Given the description of an element on the screen output the (x, y) to click on. 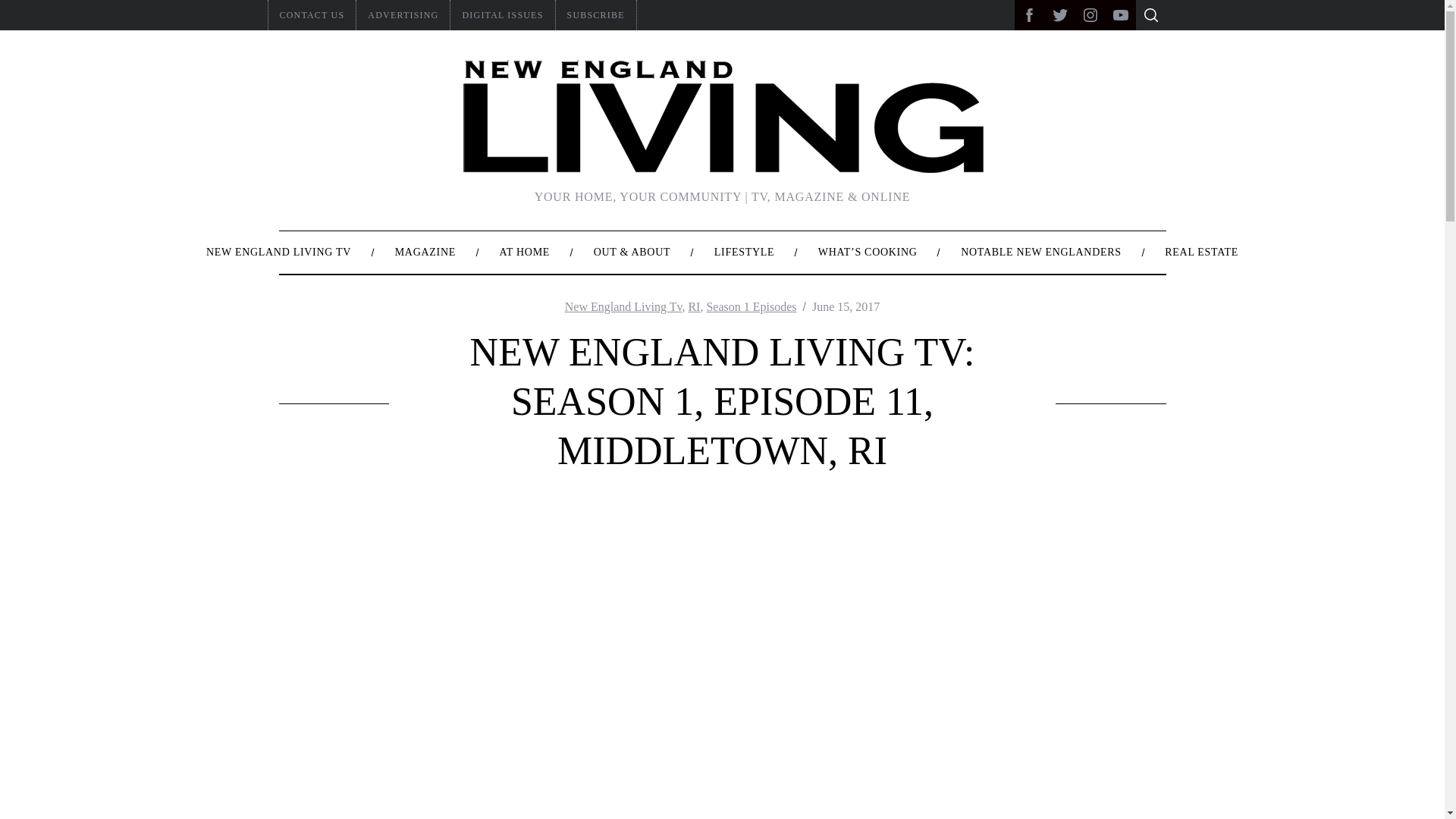
NEW ENGLAND LIVING TV (278, 251)
SUBSCRIBE (596, 15)
DIGITAL ISSUES (501, 15)
New England Living Tv (623, 306)
LIFESTYLE (744, 251)
MAGAZINE (424, 251)
RI (693, 306)
REAL ESTATE (1201, 251)
ADVERTISING (402, 15)
